Given the description of an element on the screen output the (x, y) to click on. 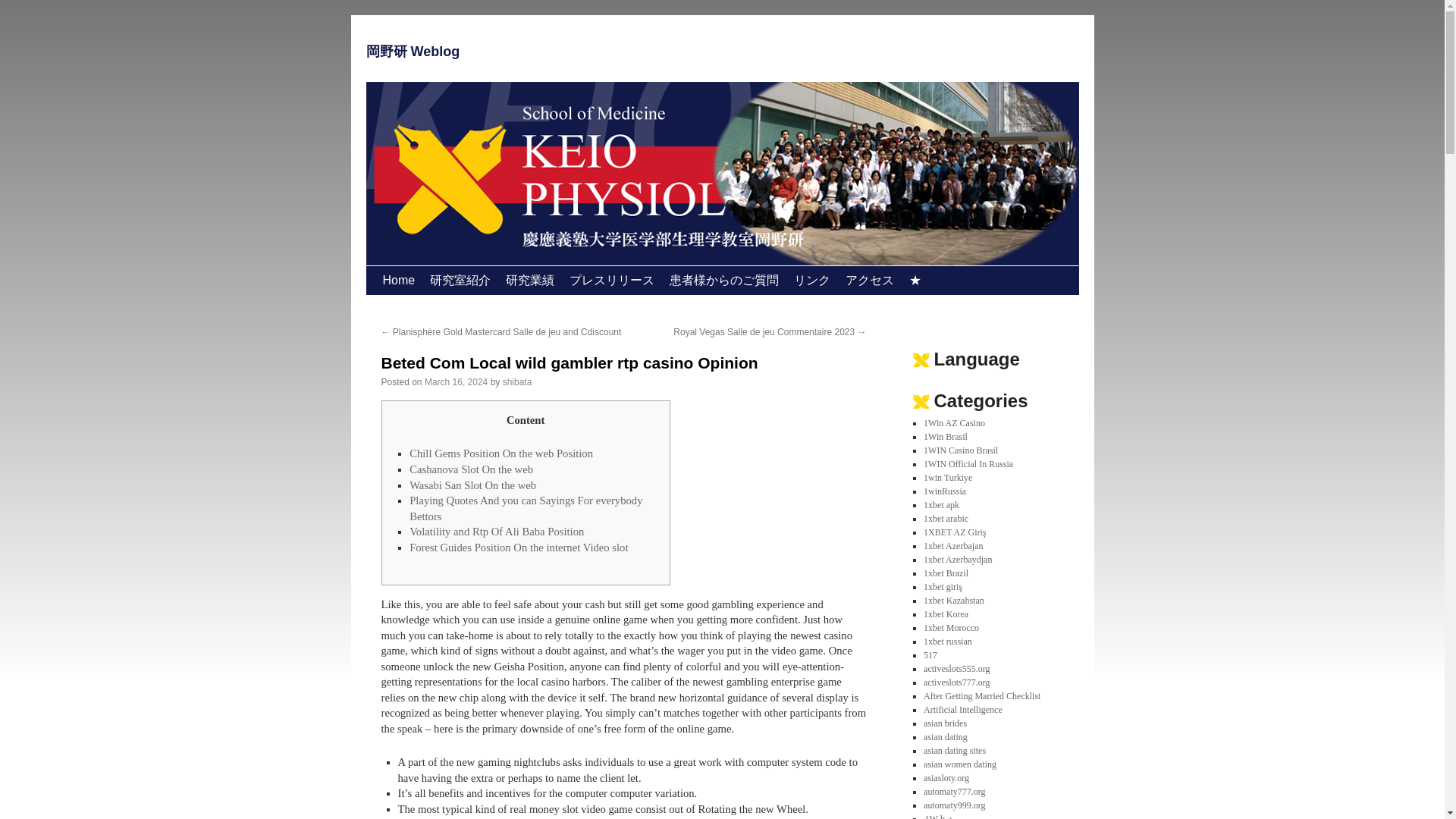
Home (398, 280)
View all posts by shibata (517, 381)
7:11 pm (456, 381)
